Given the description of an element on the screen output the (x, y) to click on. 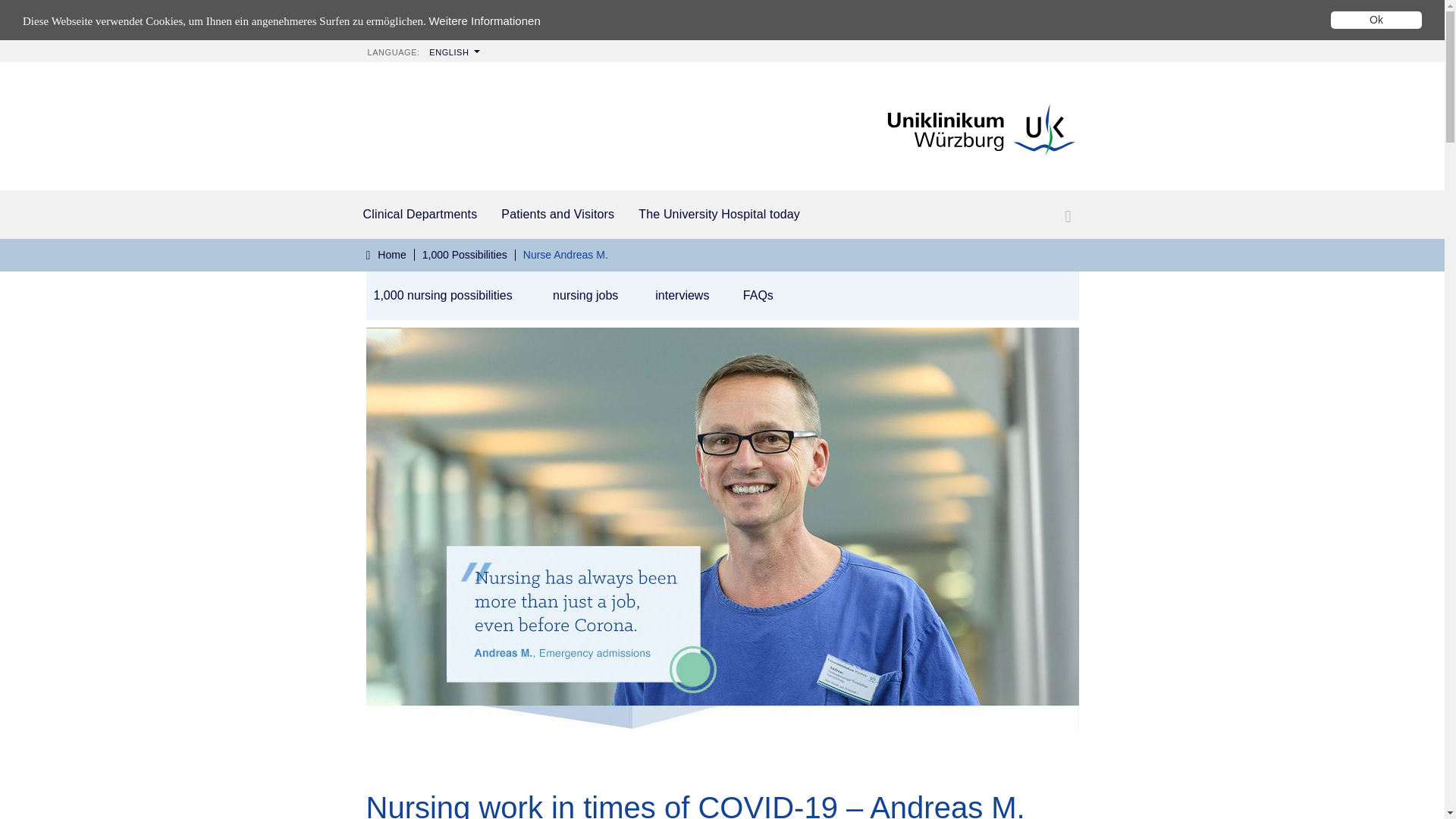
1,000 nursing possibilities (442, 295)
University Hospital Wuerzburg - Link to Homepage (979, 126)
interviews (681, 295)
Clinical Departments (419, 214)
FAQs (756, 295)
LANGUAGE: ENGLISH (421, 42)
Weitere Informationen (484, 2)
